Given the description of an element on the screen output the (x, y) to click on. 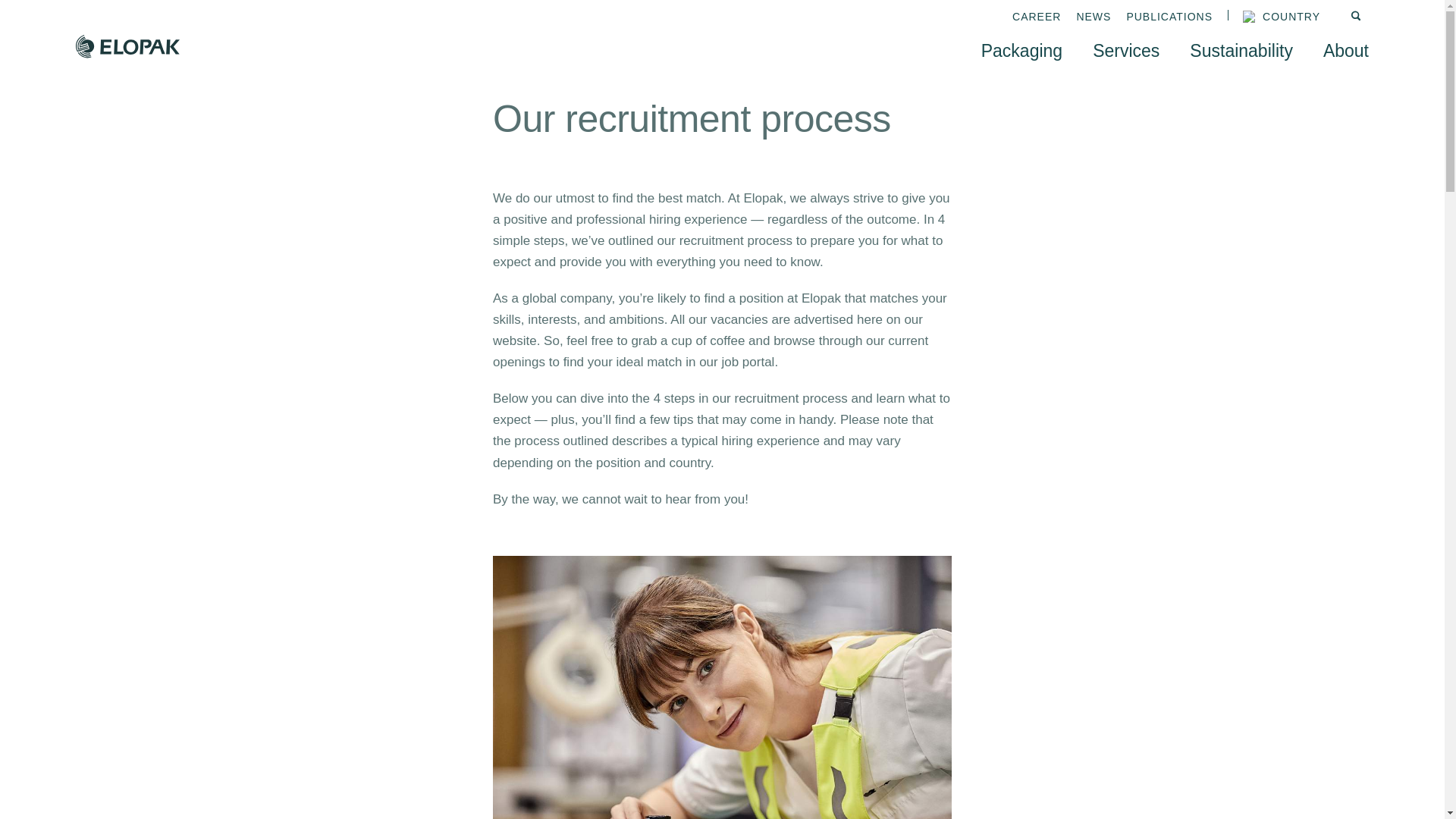
Search (1359, 16)
Career (1036, 16)
About (1345, 50)
News (1092, 16)
Services (1125, 50)
Packaging (1021, 50)
Publications (1168, 16)
Sustainability (1240, 50)
